Given the description of an element on the screen output the (x, y) to click on. 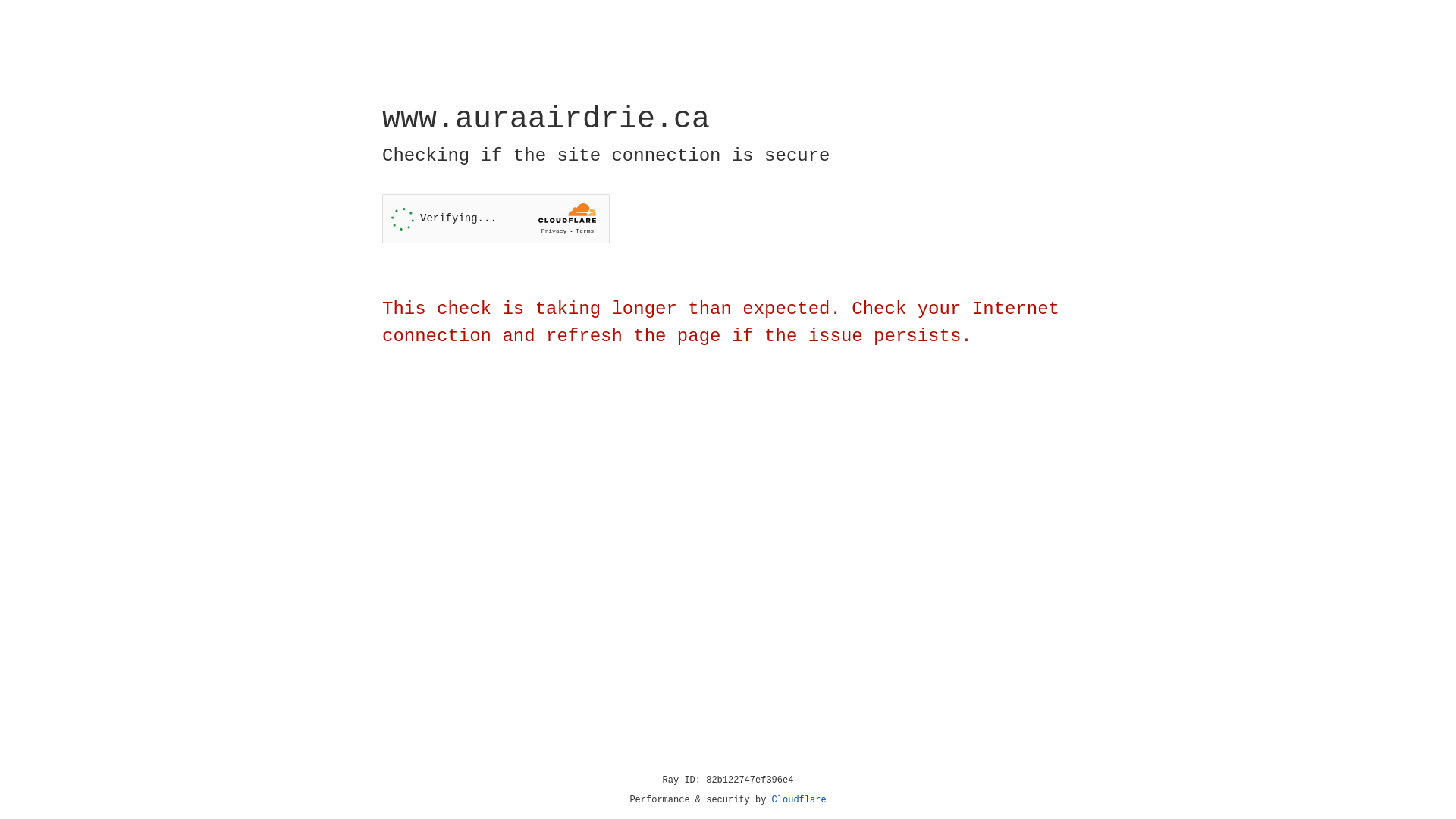
Widget containing a Cloudflare security challenge Element type: hover (495, 218)
Cloudflare Element type: text (798, 799)
